Given the description of an element on the screen output the (x, y) to click on. 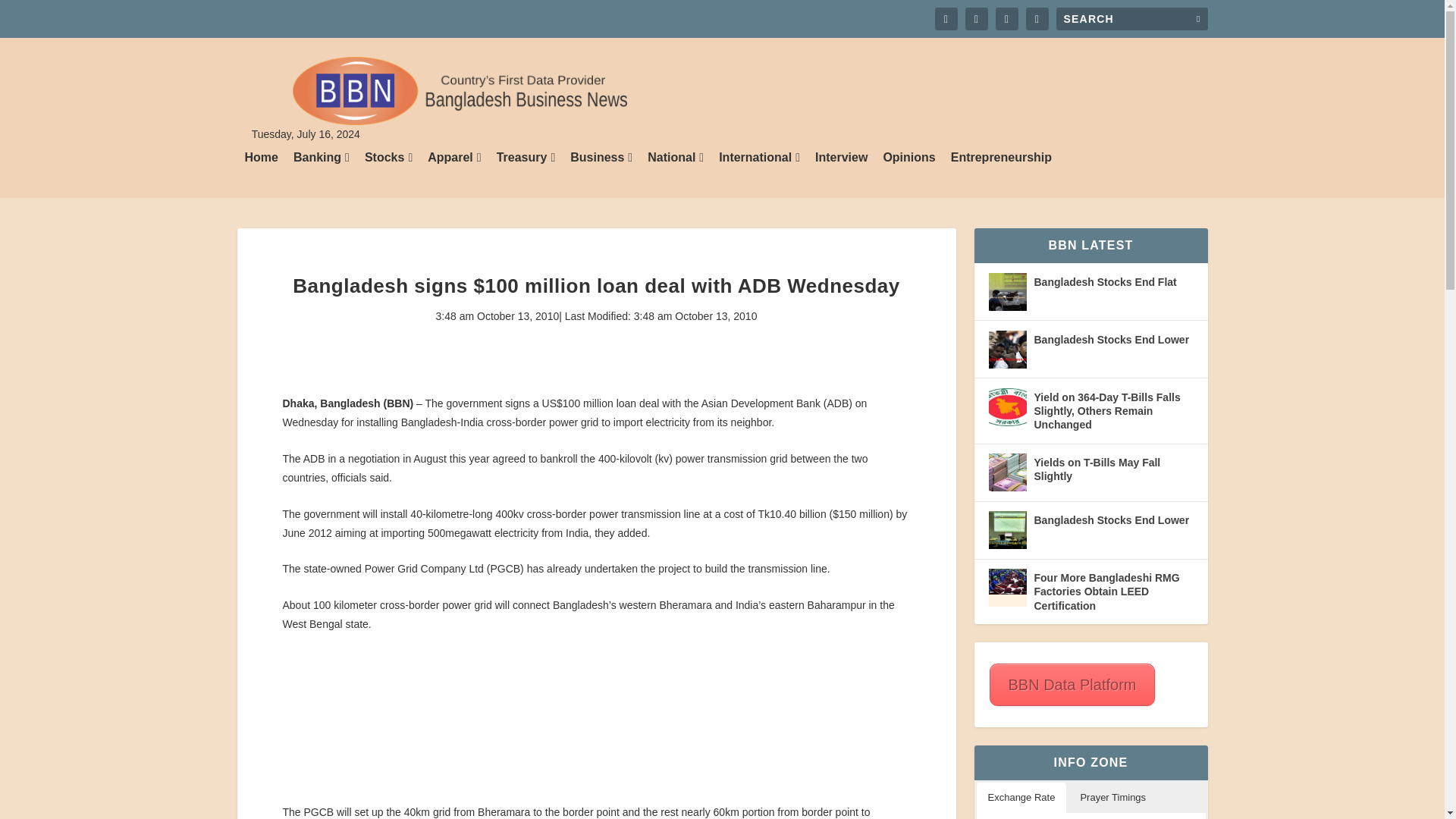
Apparel (454, 174)
Stocks (388, 174)
Business (600, 174)
Advertisement (596, 727)
Search for: (1131, 18)
Banking (321, 174)
Treasury (526, 174)
